Given the description of an element on the screen output the (x, y) to click on. 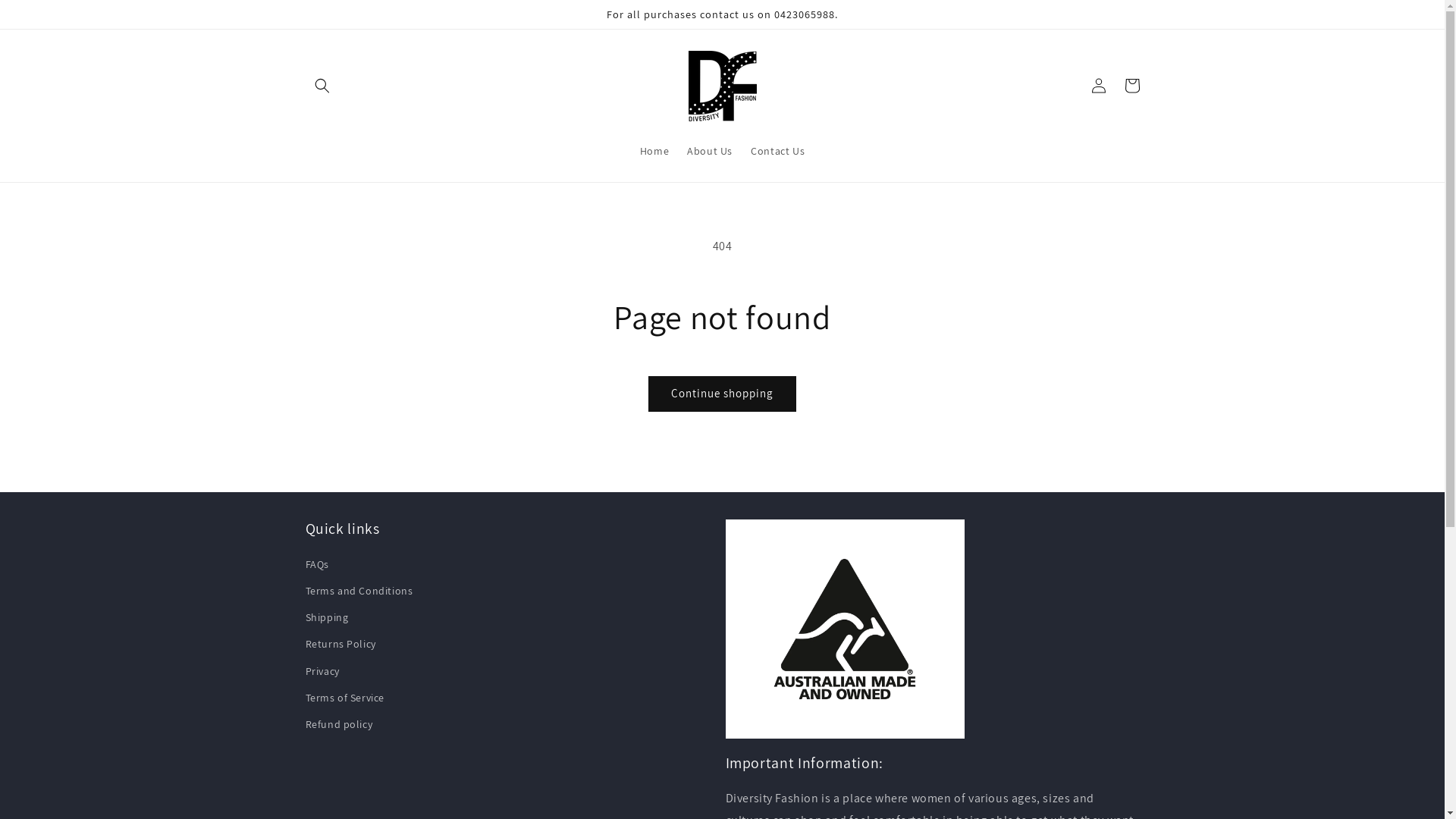
Continue shopping Element type: text (722, 393)
Privacy Element type: text (321, 671)
Returns Policy Element type: text (339, 643)
Log in Element type: text (1097, 85)
About Us Element type: text (709, 150)
Terms and Conditions Element type: text (358, 590)
Cart Element type: text (1131, 85)
Refund policy Element type: text (338, 724)
FAQs Element type: text (316, 566)
Shipping Element type: text (326, 617)
Terms of Service Element type: text (344, 697)
Contact Us Element type: text (777, 150)
Home Element type: text (653, 150)
